Given the description of an element on the screen output the (x, y) to click on. 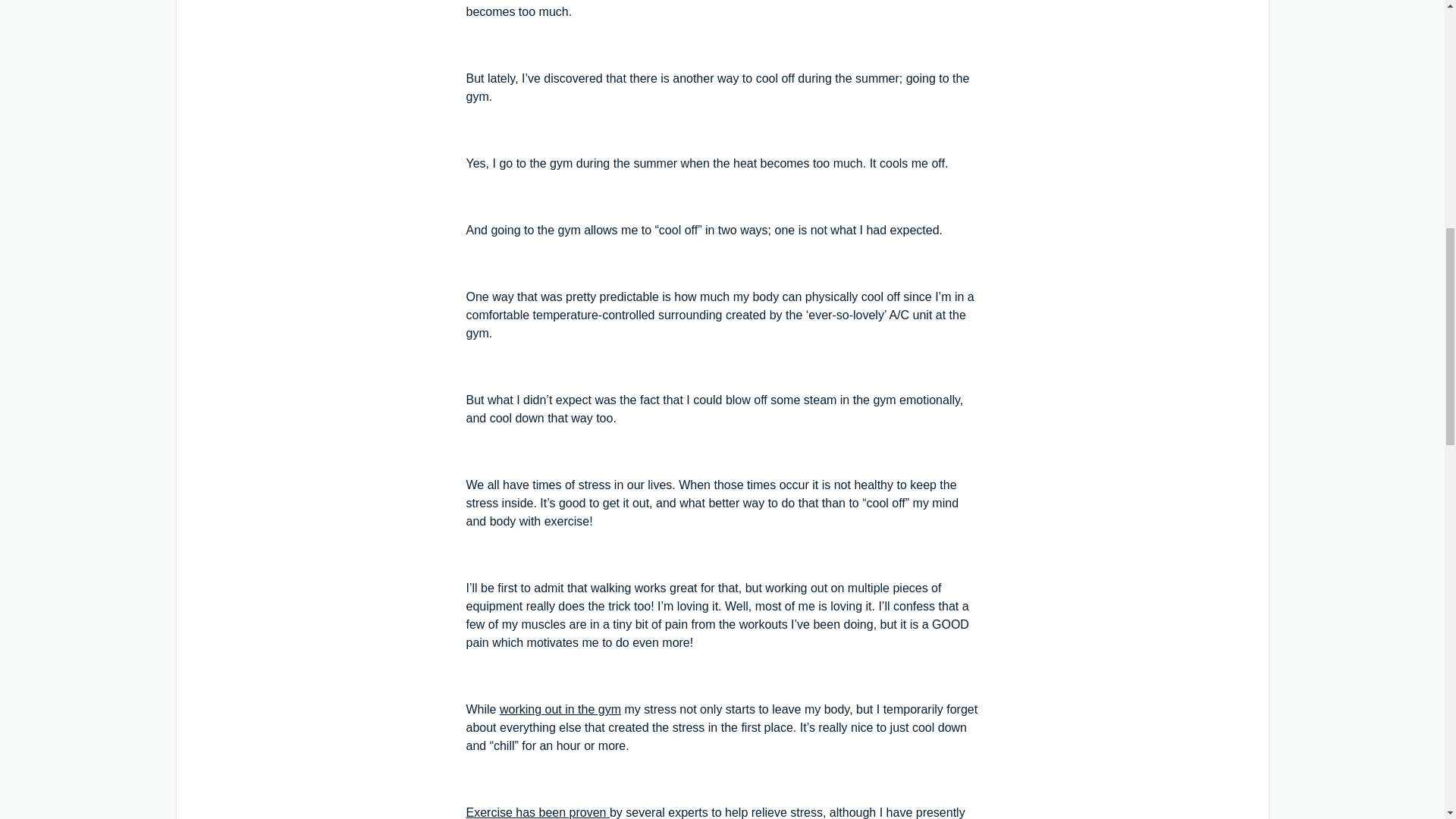
working out in the gym (560, 708)
Exercise has been proven (536, 812)
